Given the description of an element on the screen output the (x, y) to click on. 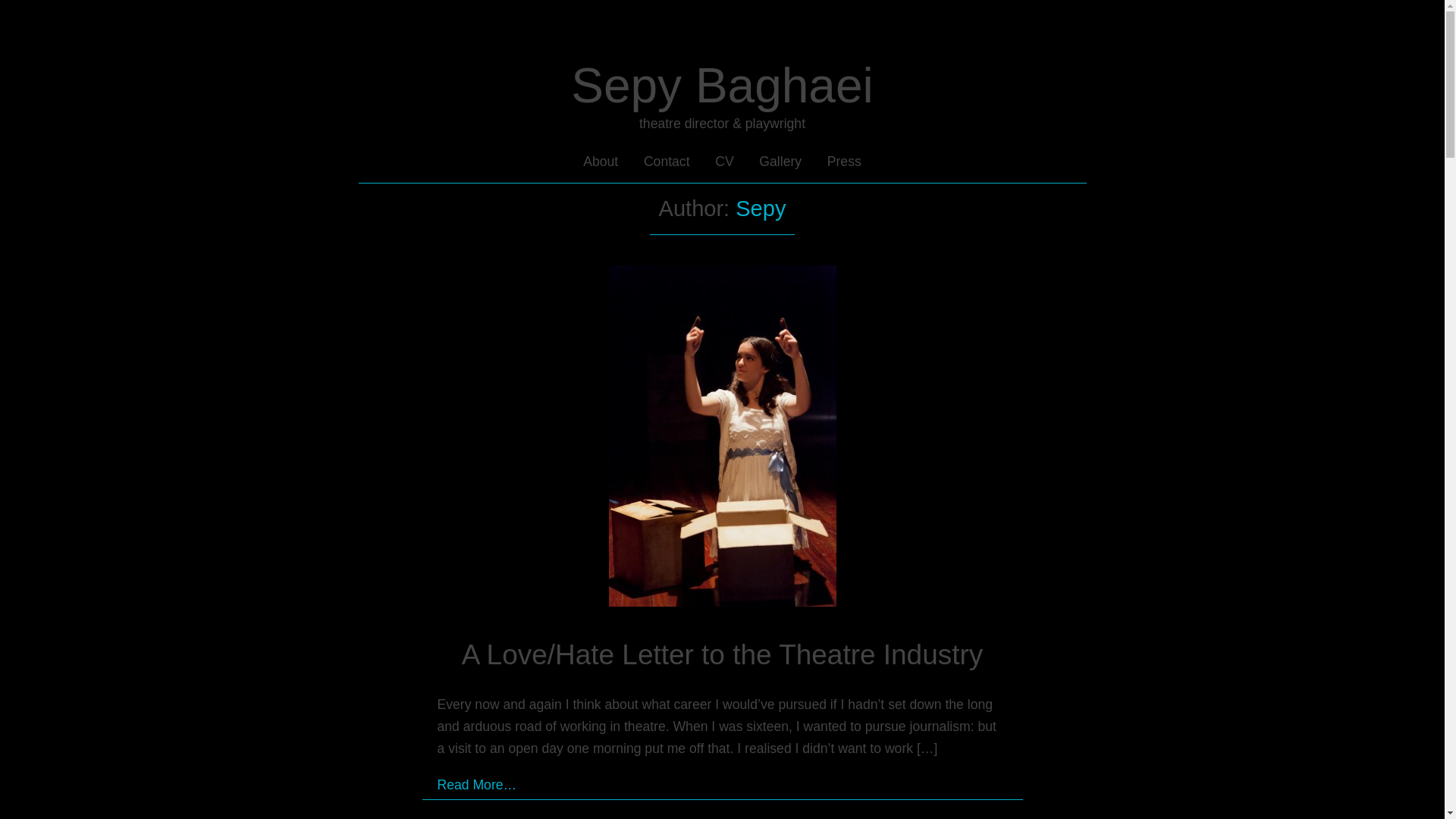
Gallery (780, 161)
Sepy (760, 208)
Sepy Baghaei (721, 85)
Sepy (760, 208)
Contact (666, 161)
About (600, 161)
CV (723, 161)
Sepy Baghaei (721, 85)
Press (844, 161)
